Given the description of an element on the screen output the (x, y) to click on. 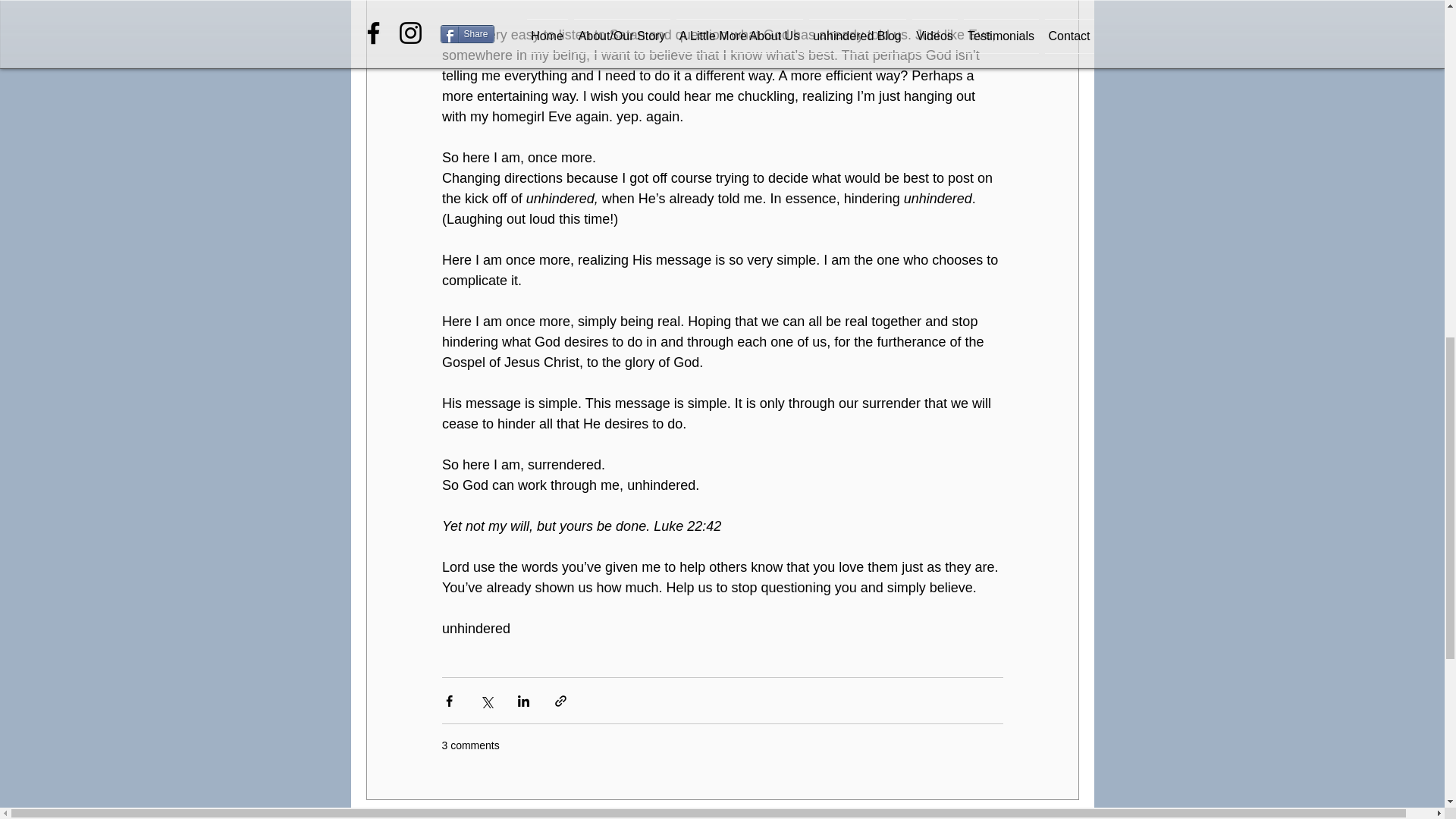
See All (1061, 818)
